Given the description of an element on the screen output the (x, y) to click on. 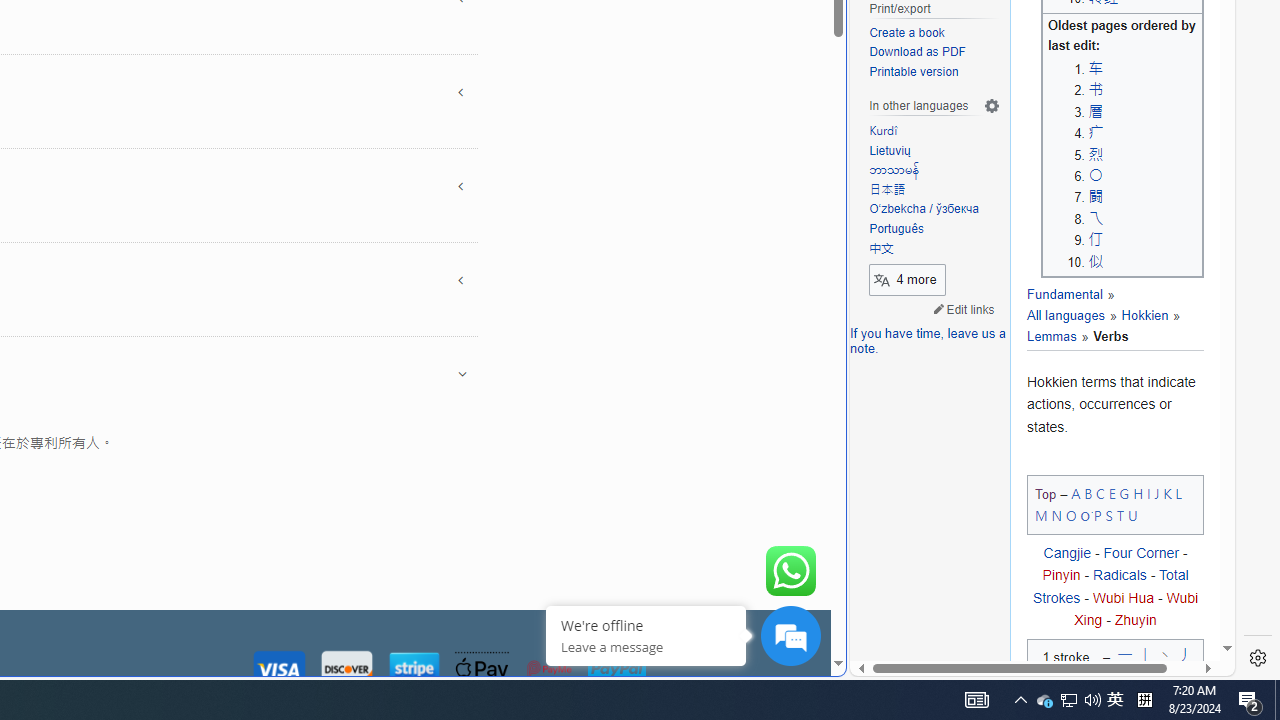
Printable version (913, 71)
If you have time, leave us a note. (927, 341)
Hokkien (1144, 316)
